Given the description of an element on the screen output the (x, y) to click on. 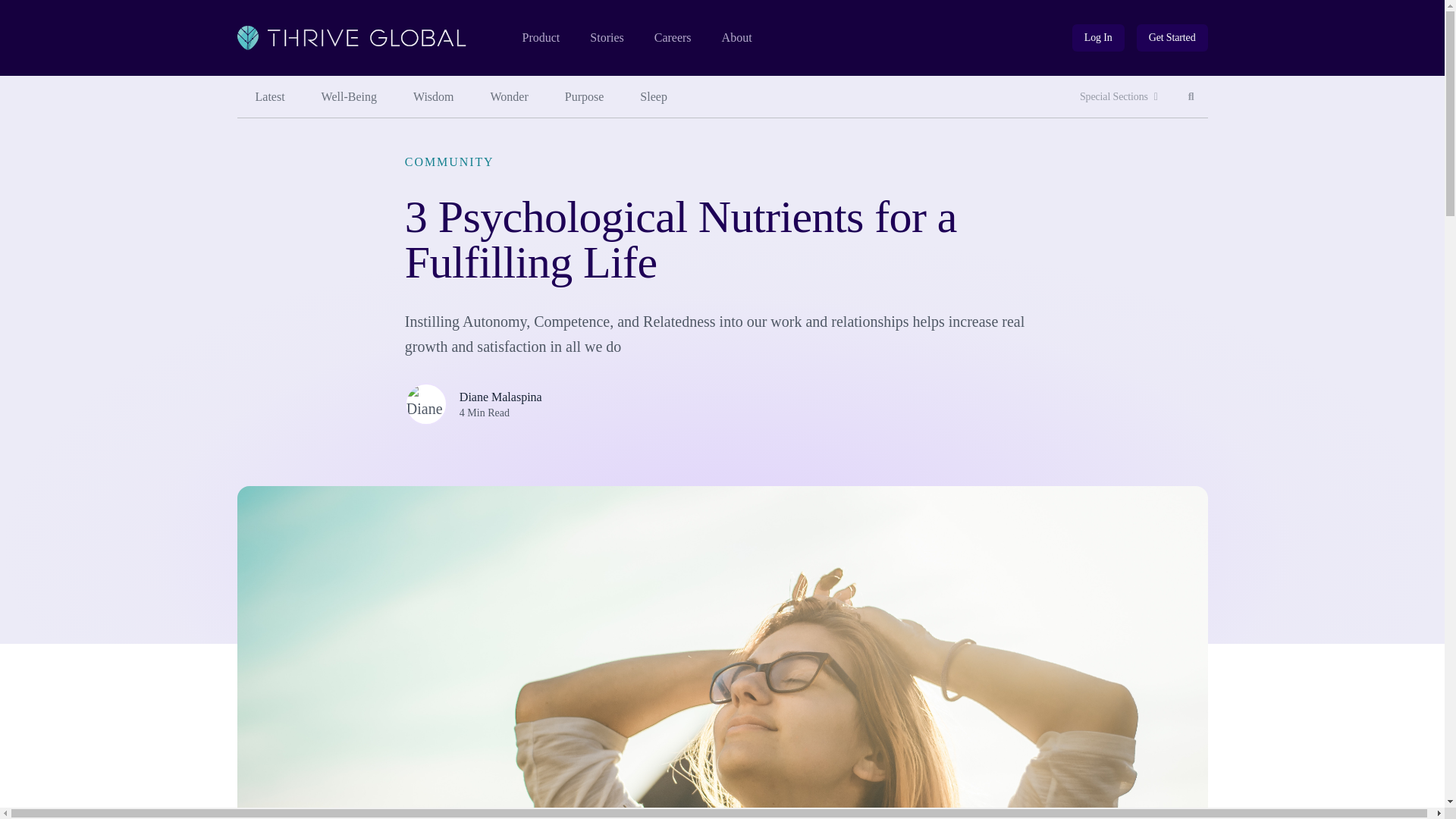
Log In (1097, 37)
btn-primary (1172, 37)
Purpose (585, 96)
About (737, 37)
Wonder (509, 96)
Well-Being (348, 96)
Latest (268, 96)
Special Sections (1118, 97)
Product (540, 37)
Get Started (1172, 37)
Wisdom (432, 96)
btn-info (1097, 37)
Stories (606, 37)
Sleep (1191, 97)
